Given the description of an element on the screen output the (x, y) to click on. 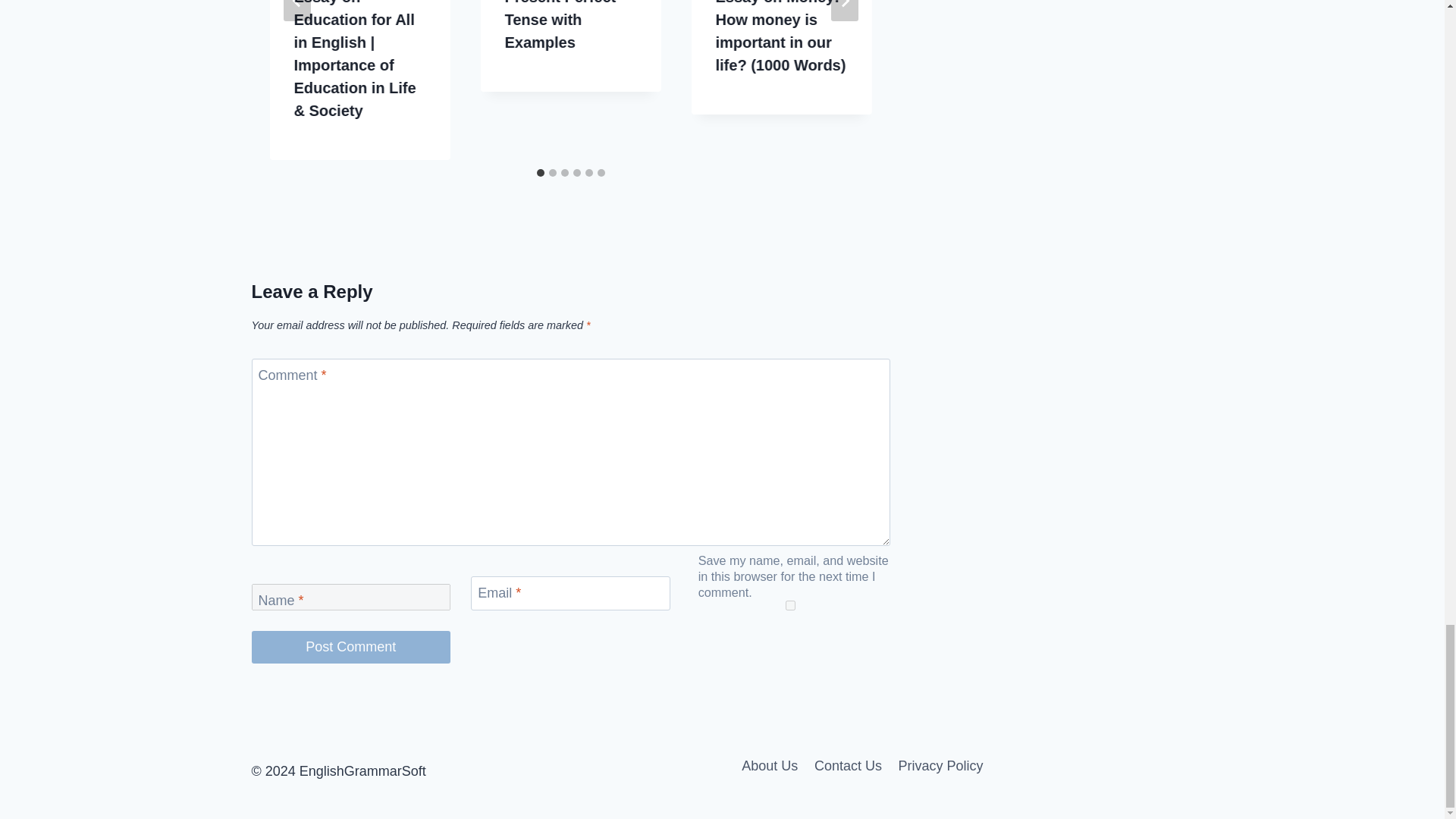
Post Comment (351, 646)
yes (789, 605)
